Given the description of an element on the screen output the (x, y) to click on. 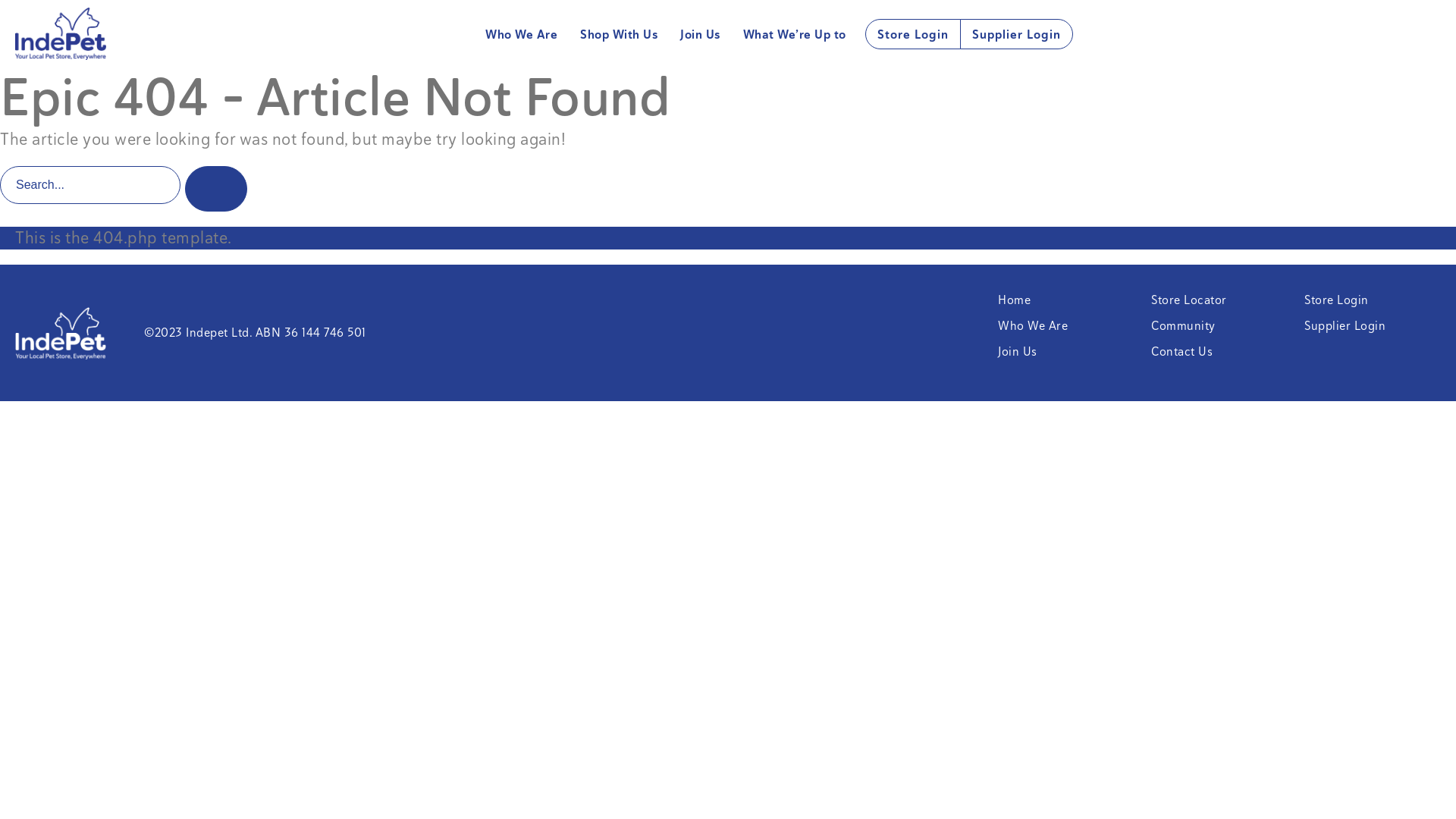
Join Us Element type: text (1017, 351)
Shop With Us Element type: text (618, 34)
Contact Us Element type: text (1181, 351)
Supplier Login Element type: text (1344, 325)
Store Login Element type: text (1336, 299)
Supplier Login Element type: text (1016, 34)
Join Us Element type: text (700, 34)
Who We Are Element type: text (521, 34)
Home Element type: text (1013, 299)
Who We Are Element type: text (1032, 325)
Community Element type: text (1183, 325)
Store Locator Element type: text (1188, 299)
Store Login Element type: text (912, 34)
